Given the description of an element on the screen output the (x, y) to click on. 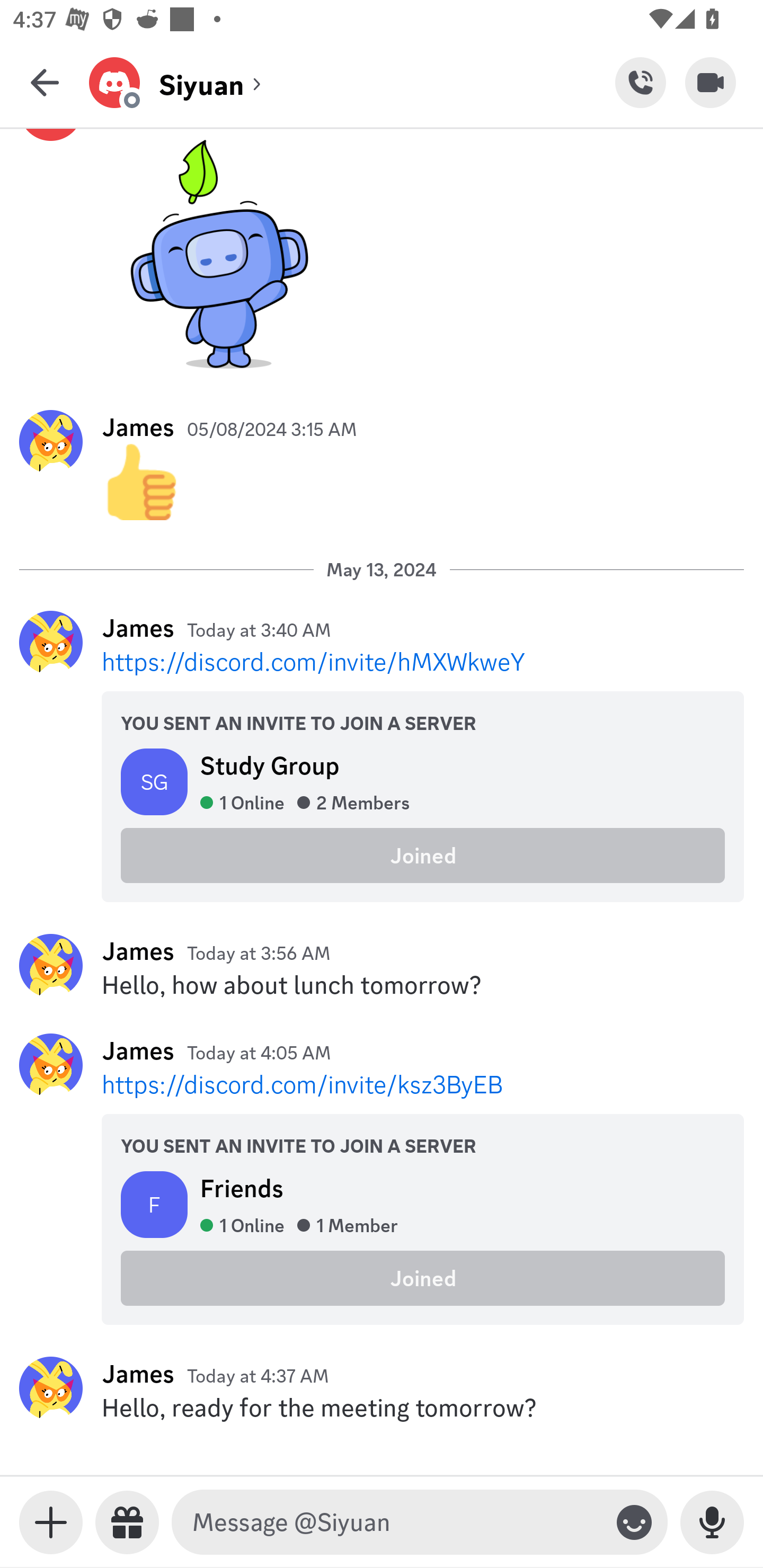
Siyuan (channel) Siyuan Siyuan (channel) (351, 82)
Back (44, 82)
Start Voice Call (640, 82)
Start Video Call (710, 82)
James (137, 426)
James (137, 627)
Joined (422, 854)
James (137, 950)
James (137, 1050)
Joined (422, 1278)
